Given the description of an element on the screen output the (x, y) to click on. 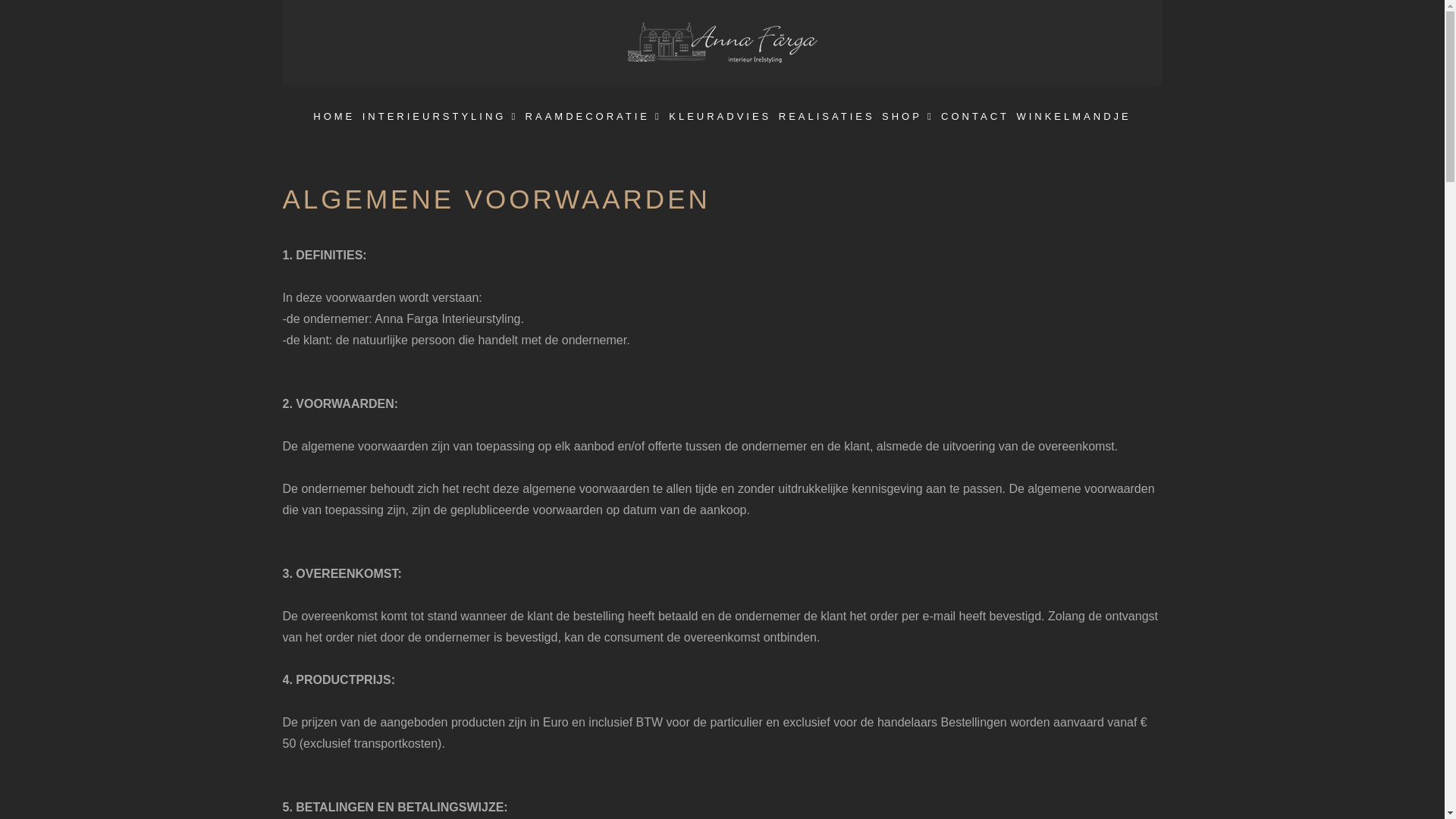
HOME Element type: text (333, 116)
KLEURADVIES Element type: text (719, 116)
REALISATIES Element type: text (826, 116)
Anna Farga Interieurstyling Element type: hover (722, 42)
WINKELMANDJE Element type: text (1073, 116)
RAAMDECORATIE Element type: text (593, 116)
SHOP Element type: text (907, 116)
INTERIEURSTYLING Element type: text (439, 116)
CONTACT Element type: text (975, 116)
